Given the description of an element on the screen output the (x, y) to click on. 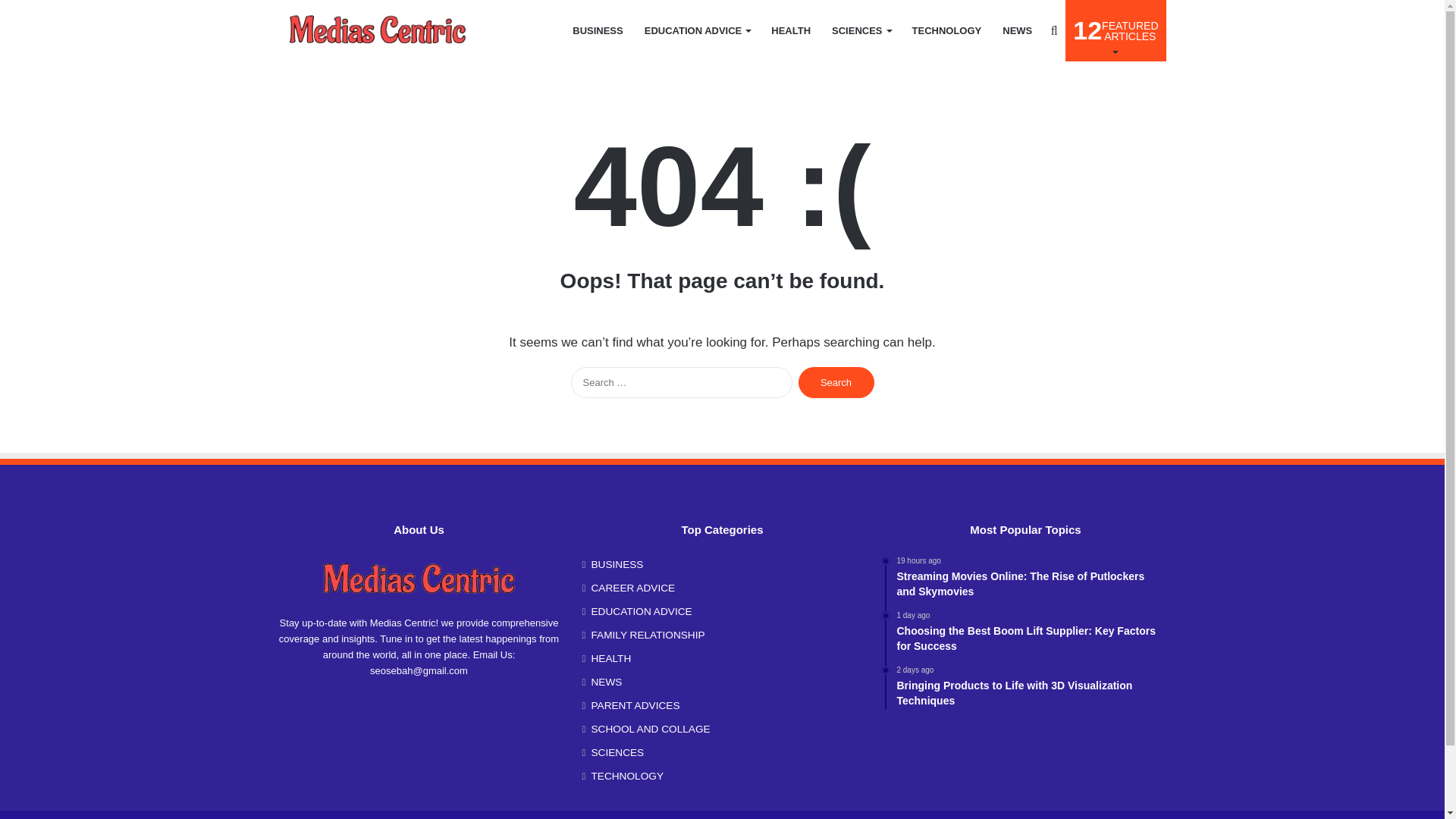
EDUCATION ADVICE (697, 30)
Search (835, 382)
SCIENCES (861, 30)
TECHNOLOGY (946, 30)
BUSINESS (597, 30)
HEALTH (1115, 30)
Medias Centric (790, 30)
Search (377, 30)
